Given the description of an element on the screen output the (x, y) to click on. 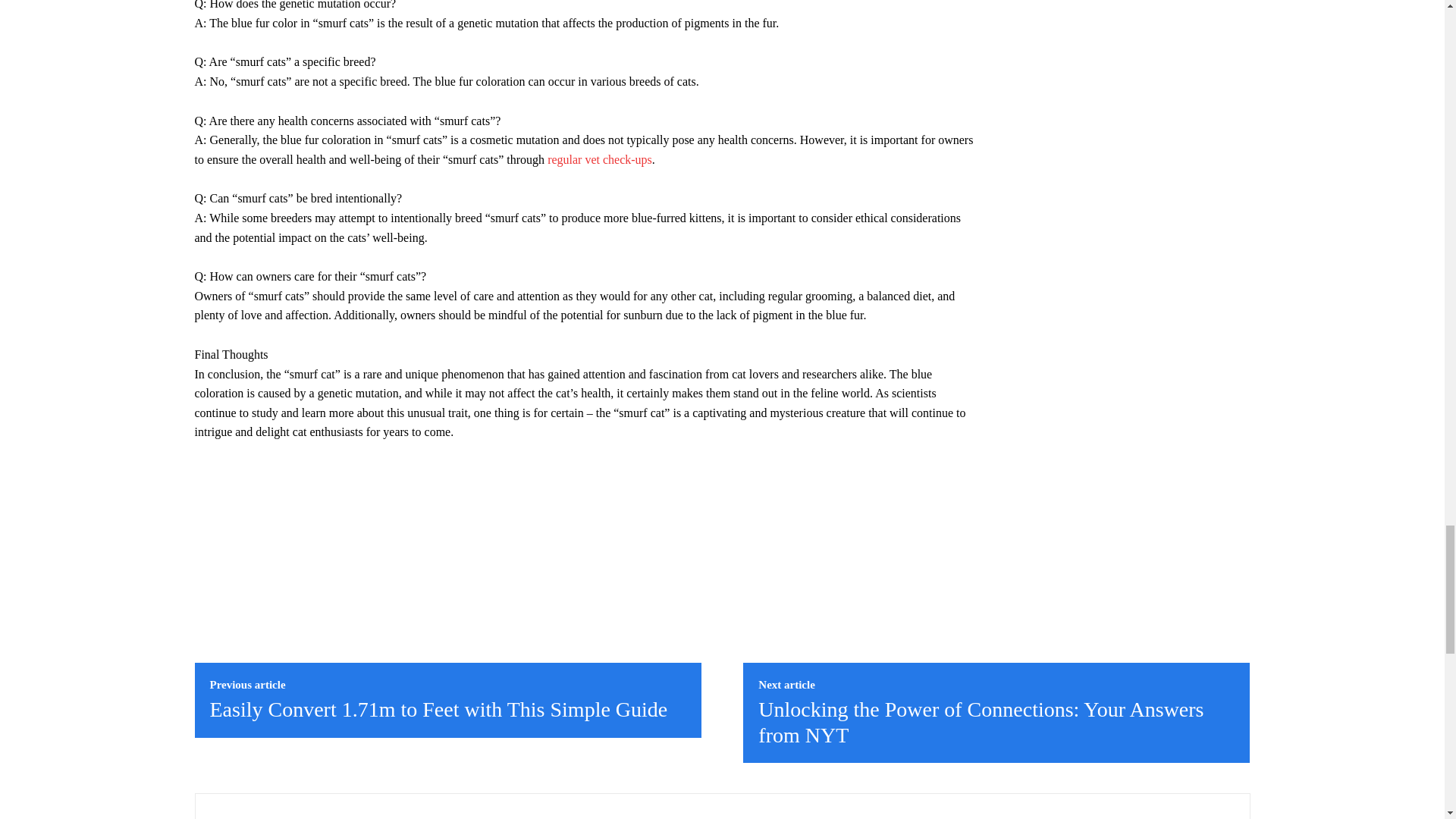
Are Dog Mouths Really Clean? Debunking the Myth (599, 159)
